Given the description of an element on the screen output the (x, y) to click on. 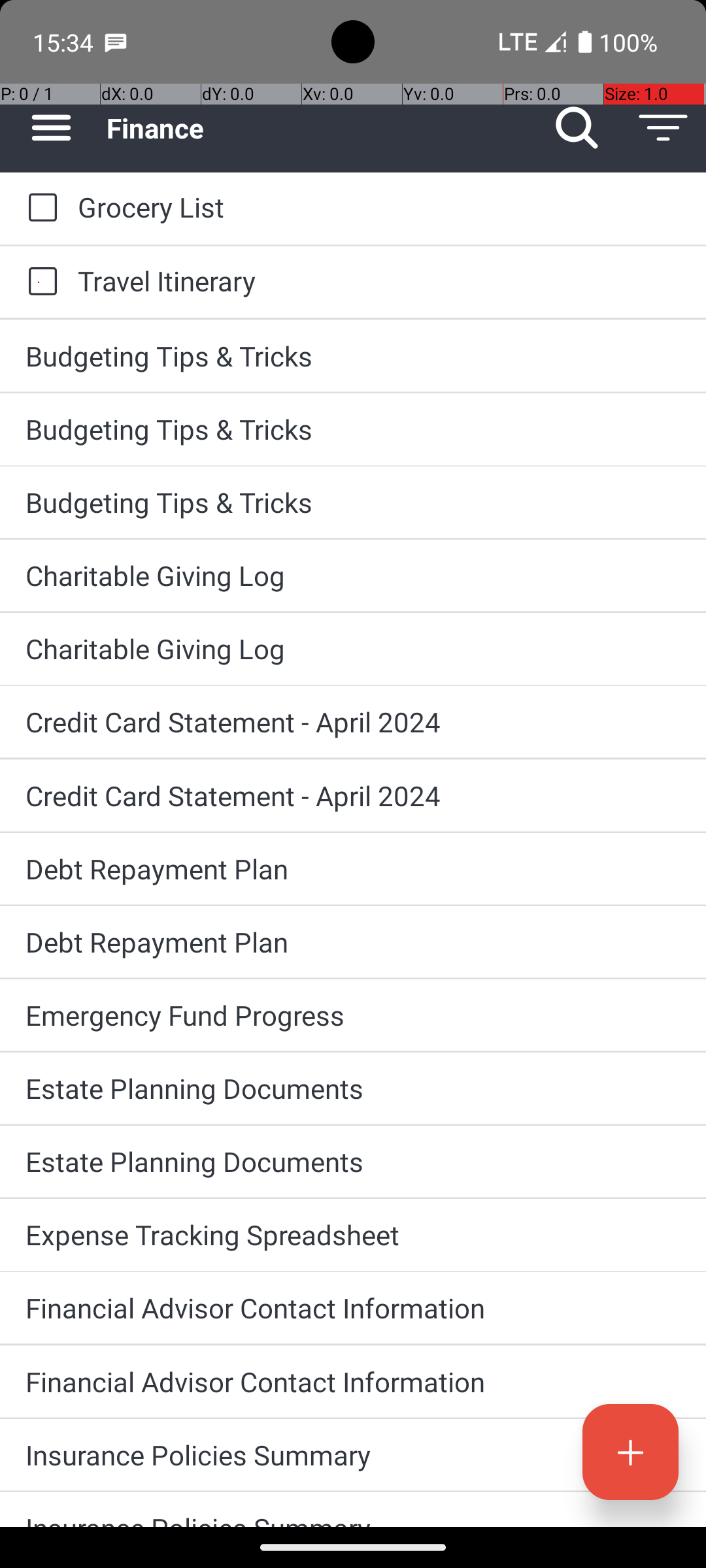
to-do: Grocery List Element type: android.widget.CheckBox (38, 208)
Grocery List Element type: android.widget.TextView (378, 206)
to-do: Travel Itinerary Element type: android.widget.CheckBox (38, 282)
Travel Itinerary Element type: android.widget.TextView (378, 280)
Charitable Giving Log Element type: android.widget.TextView (352, 574)
Credit Card Statement - April 2024 Element type: android.widget.TextView (352, 721)
Debt Repayment Plan Element type: android.widget.TextView (352, 868)
Emergency Fund Progress Element type: android.widget.TextView (352, 1014)
Estate Planning Documents Element type: android.widget.TextView (352, 1087)
Expense Tracking Spreadsheet Element type: android.widget.TextView (352, 1234)
Insurance Policies Summary Element type: android.widget.TextView (352, 1454)
